Given the description of an element on the screen output the (x, y) to click on. 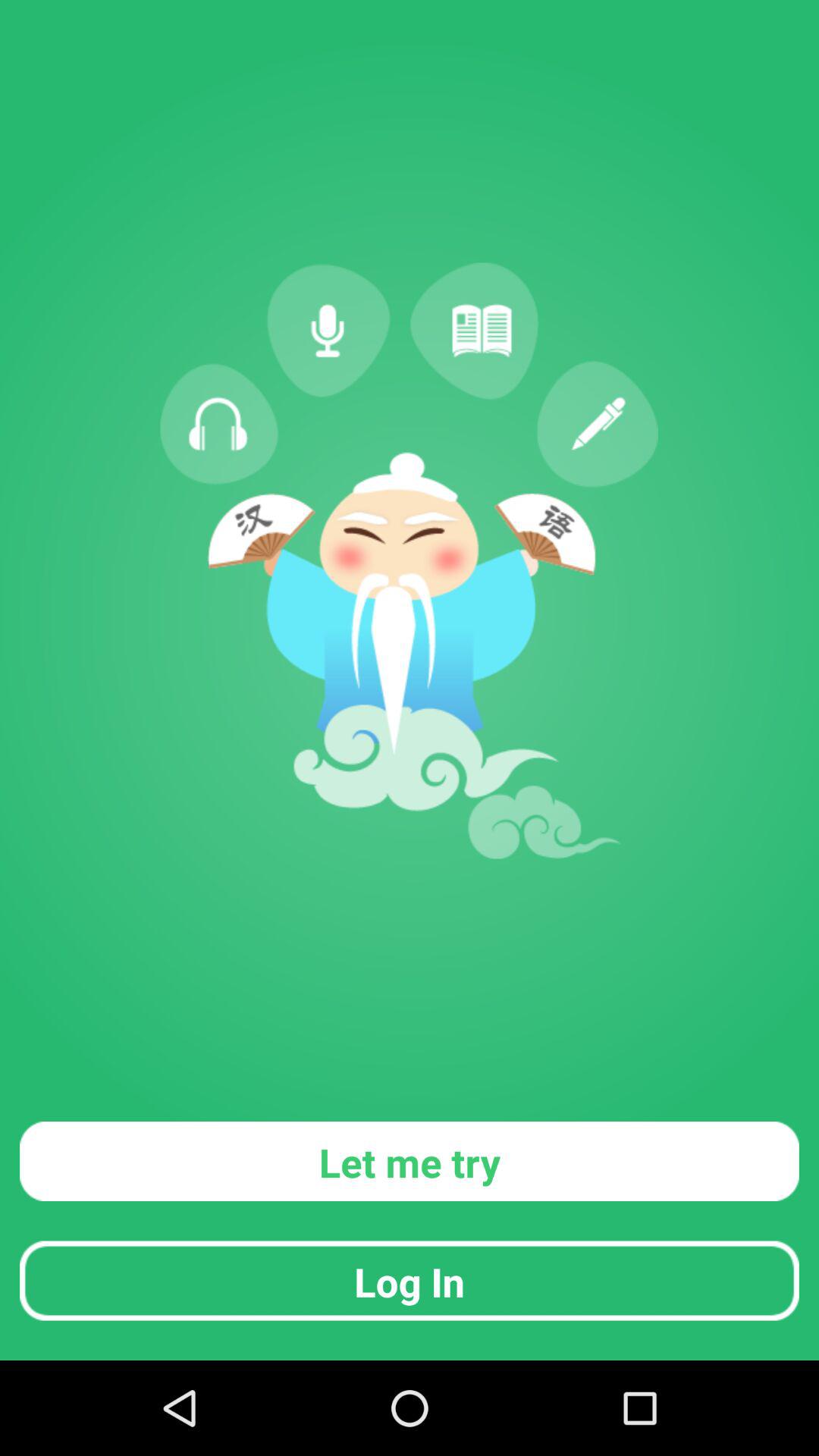
scroll to the log in button (409, 1280)
